Given the description of an element on the screen output the (x, y) to click on. 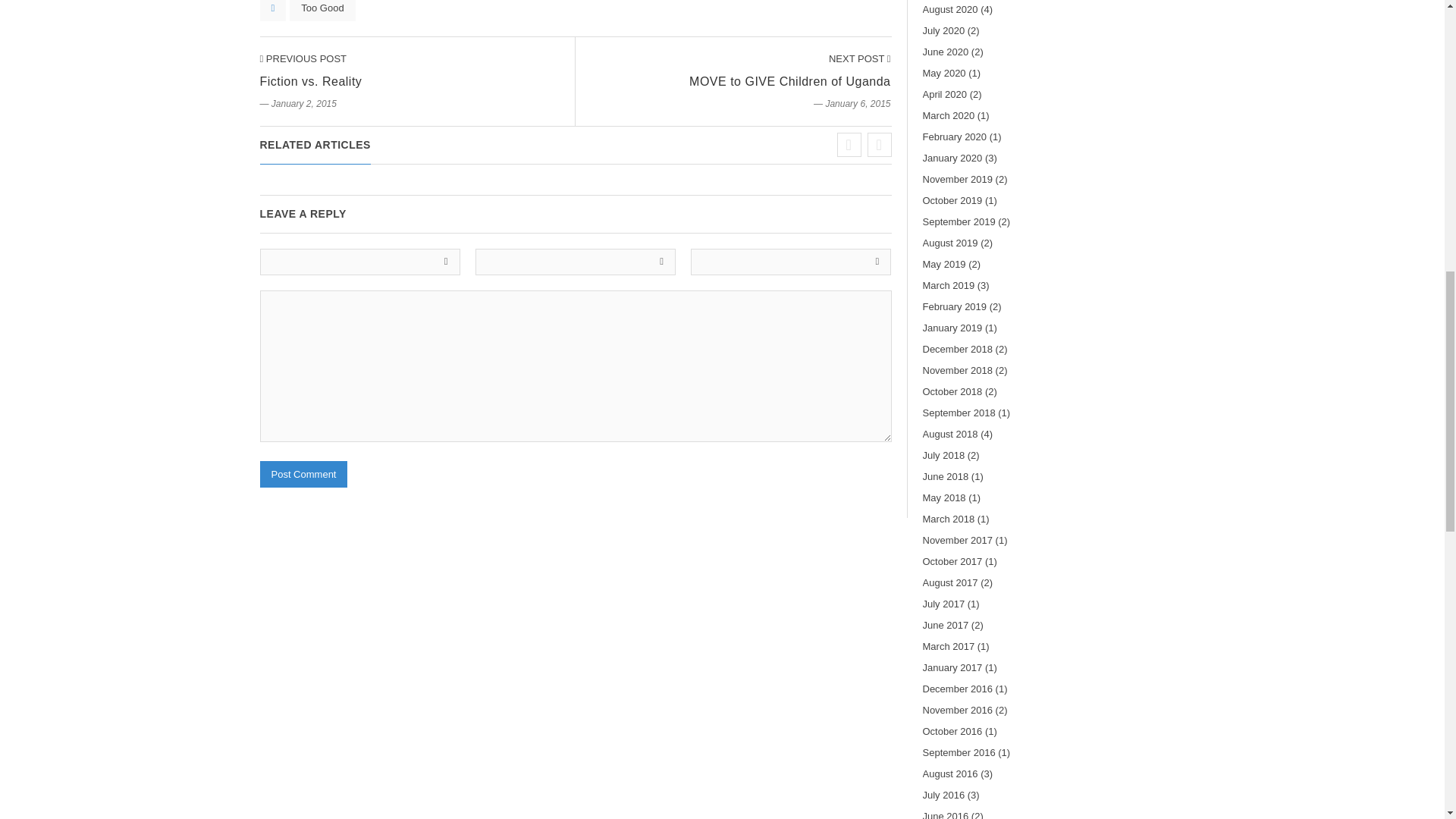
Post Comment (303, 474)
Too Good (322, 10)
 PREVIOUS POST (302, 58)
Fiction vs. Reality (310, 81)
MOVE to GIVE Children of Uganda (788, 81)
Fiction vs. Reality (302, 58)
MOVE to GIVE Children of Uganda (859, 58)
NEXT POST  (859, 58)
